Given the description of an element on the screen output the (x, y) to click on. 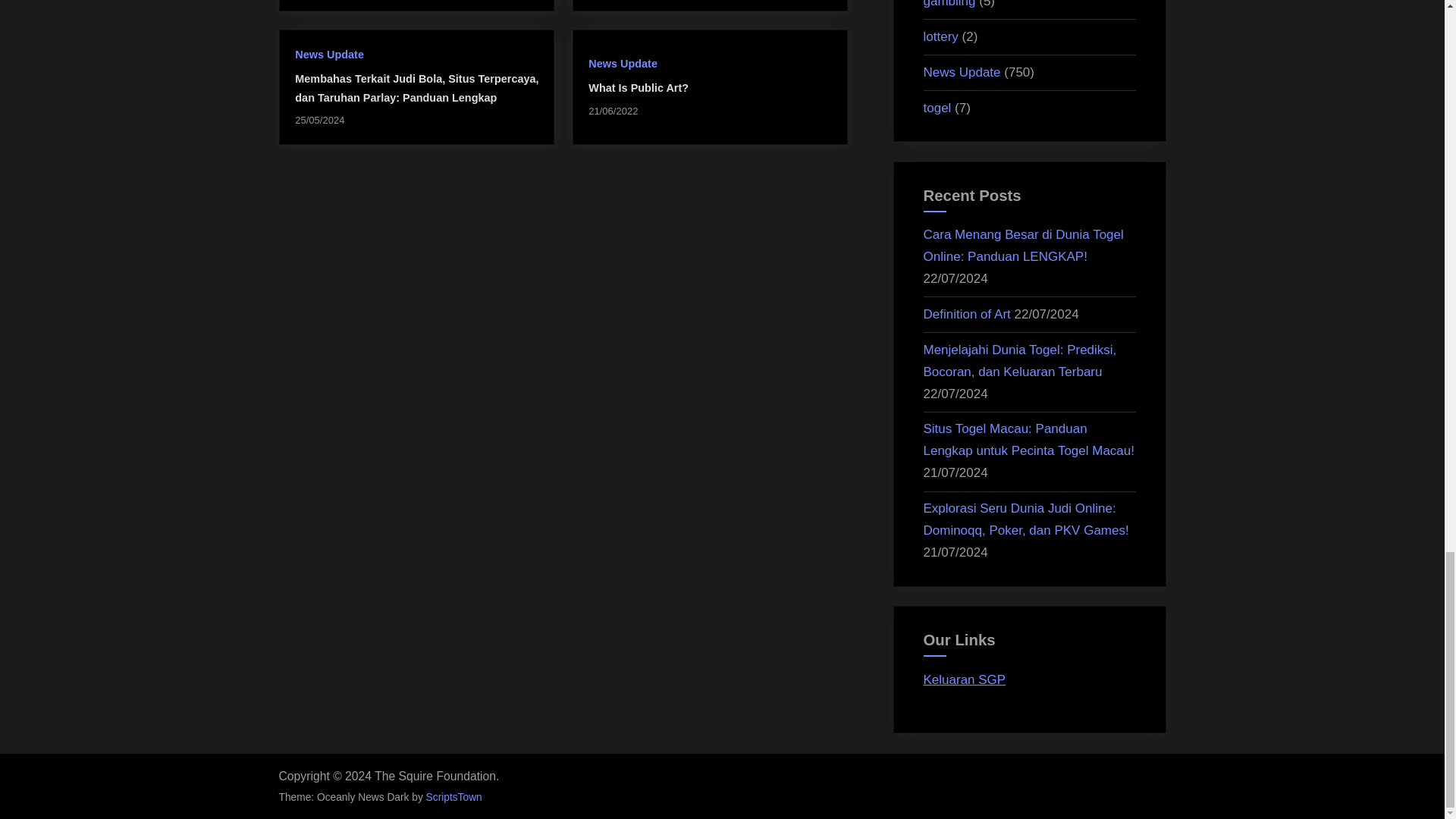
What Is Public Art? (638, 87)
News Update (329, 54)
News Update (623, 63)
